Given the description of an element on the screen output the (x, y) to click on. 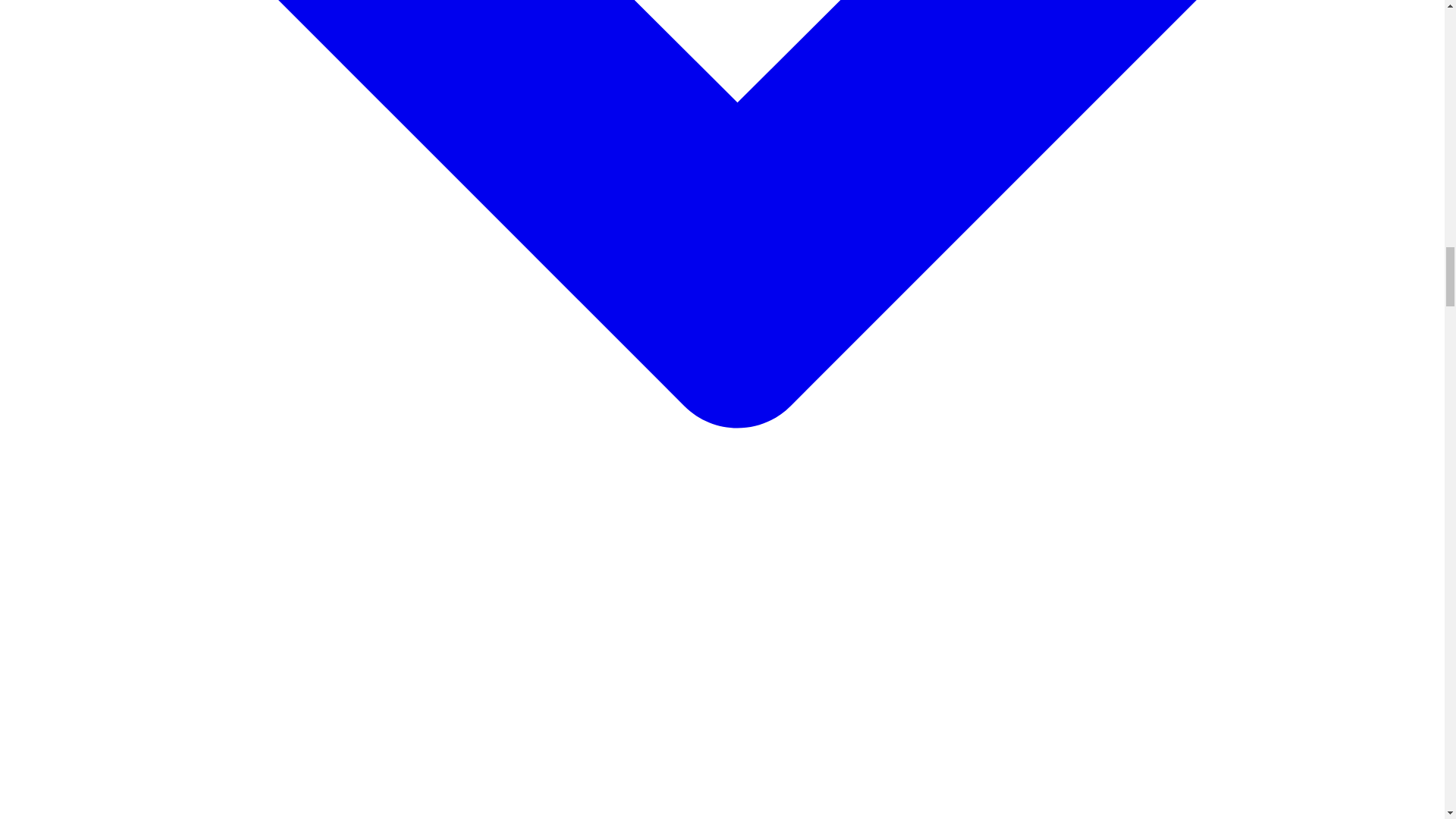
Pray (77, 818)
Pray (77, 818)
